Given the description of an element on the screen output the (x, y) to click on. 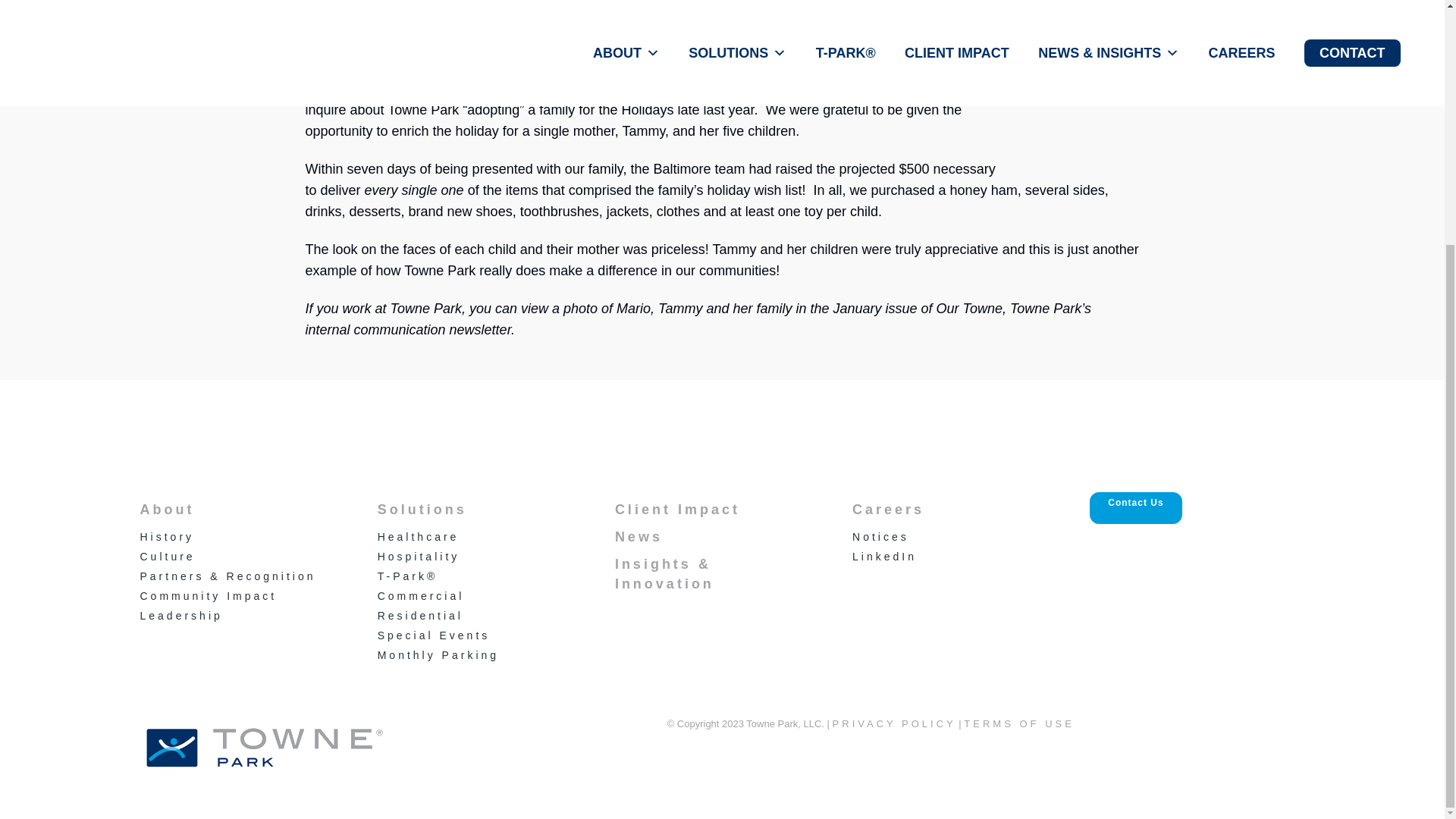
tp-logo (264, 749)
